Given the description of an element on the screen output the (x, y) to click on. 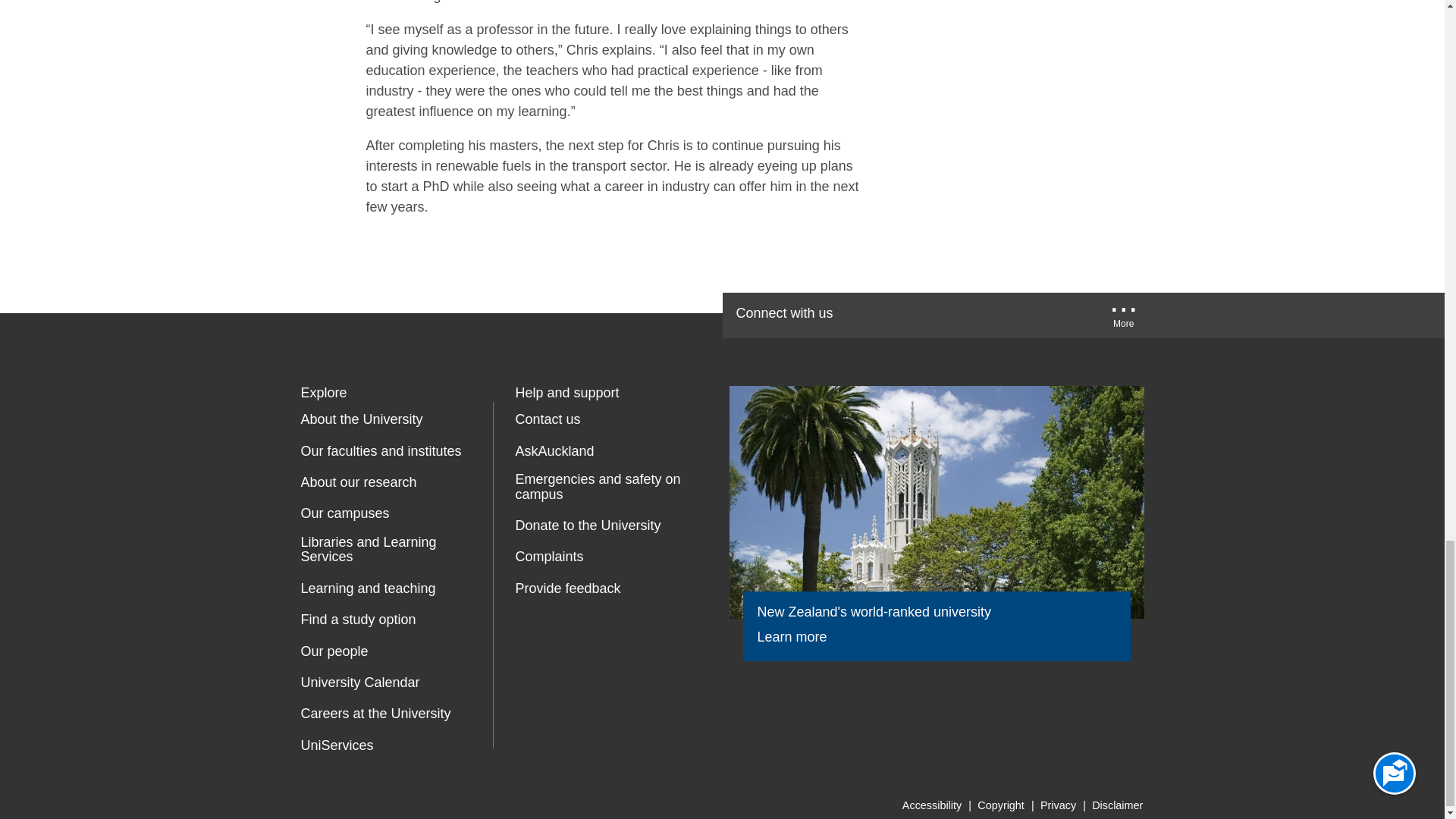
Facebook (876, 314)
Learn more (802, 637)
University of Auckland More Social... (1123, 319)
YouTube (972, 314)
Instagram (1069, 314)
Women's Refuge (528, 653)
LinkedIn (1021, 314)
Twitter (925, 314)
